Given the description of an element on the screen output the (x, y) to click on. 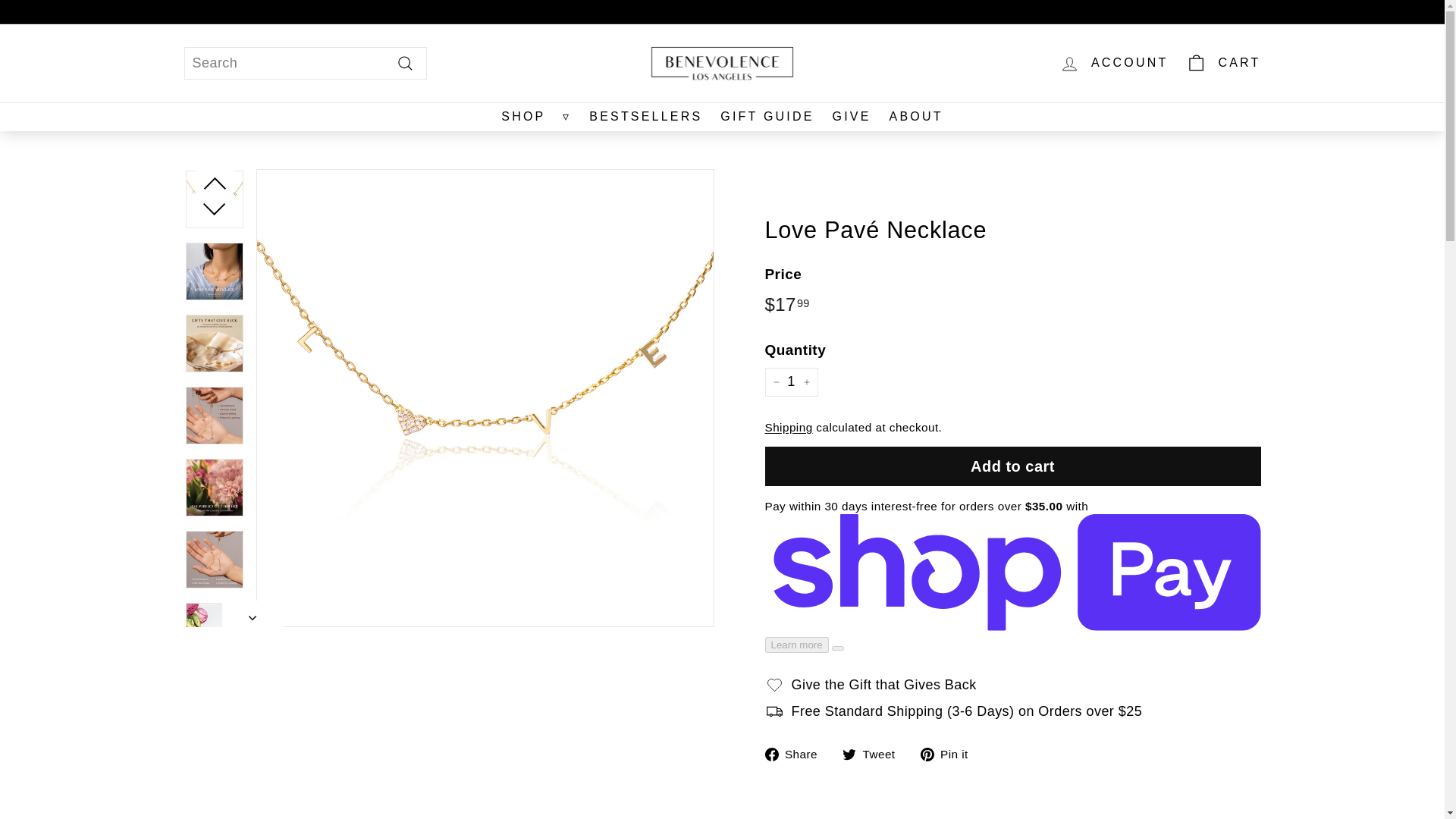
Pin on Pinterest (949, 752)
ACCOUNT (1113, 62)
BESTSELLERS (645, 116)
Tweet on Twitter (875, 752)
GIVE (852, 116)
1 (790, 381)
ABOUT (916, 116)
twitter (849, 754)
Share on Facebook (796, 752)
